Given the description of an element on the screen output the (x, y) to click on. 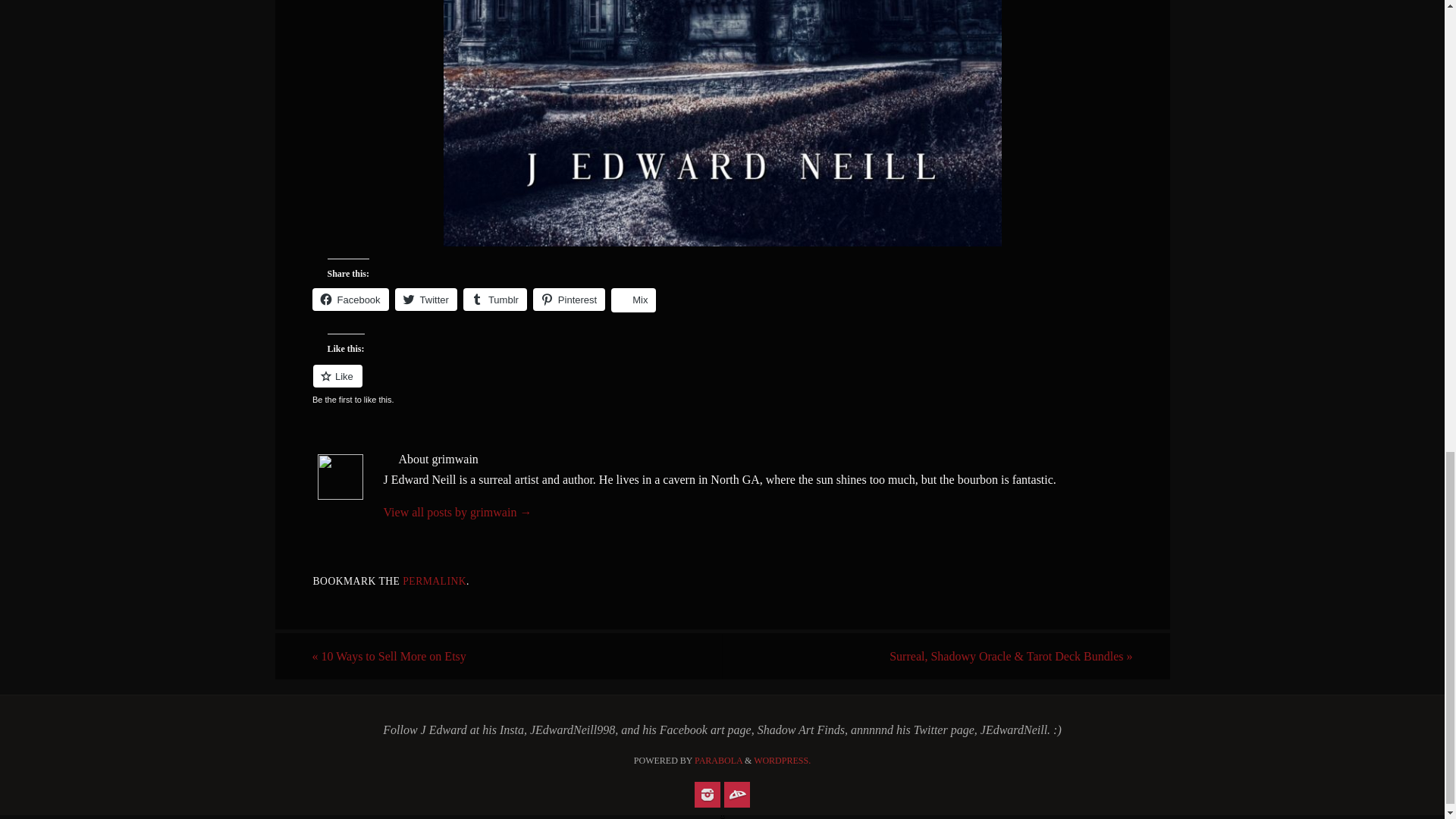
Mix (633, 300)
Click to share on Tumblr (495, 299)
Twitter (425, 299)
PARABOLA (718, 760)
Facebook (350, 299)
Parabola Theme by Cryout Creations (718, 760)
Tumblr (495, 299)
Insta (707, 794)
Like or Reblog (722, 384)
Click to share on Pinterest (568, 299)
Click to share on Twitter (425, 299)
Semantic Personal Publishing Platform (782, 760)
Click to share on Facebook (350, 299)
Pinterest (568, 299)
DeviantArt (736, 794)
